Given the description of an element on the screen output the (x, y) to click on. 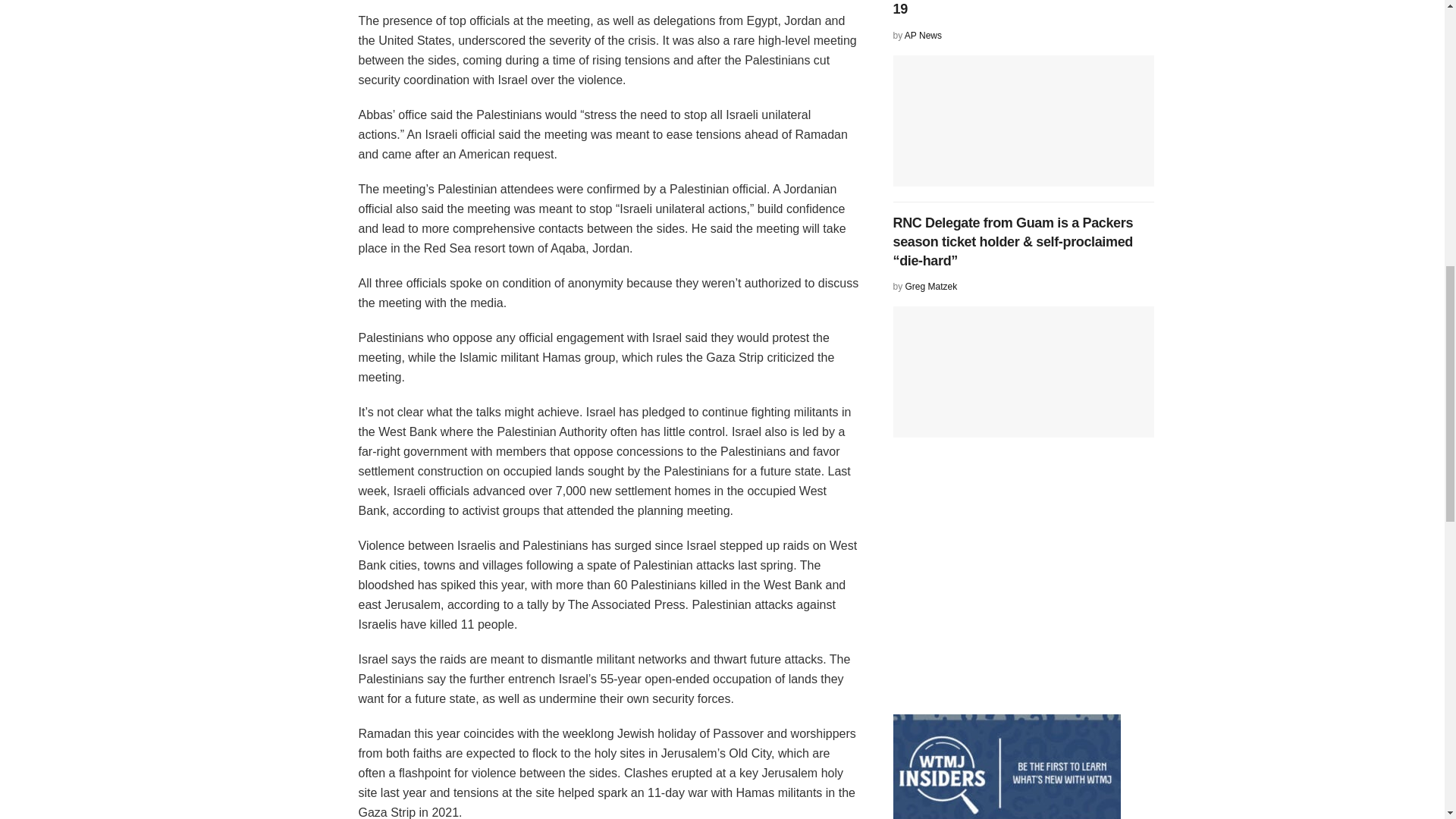
3rd party ad content (1007, 588)
